Given the description of an element on the screen output the (x, y) to click on. 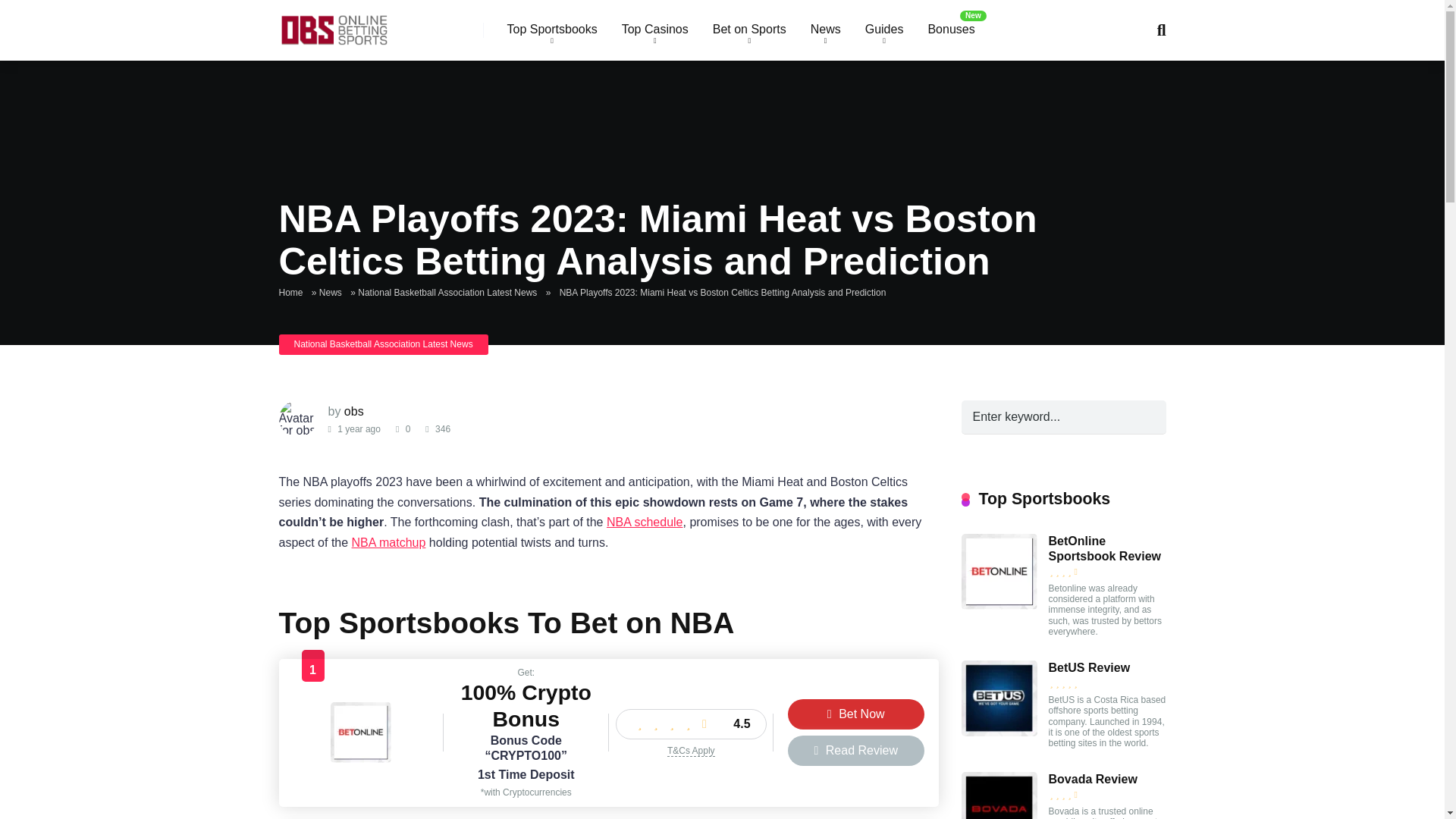
Gravatar for obs (298, 418)
Top Casinos (655, 30)
Bet on Sports (748, 30)
Posts by obs (353, 410)
BetOnline Sportsbook Review (998, 604)
Top Sportsbooks (551, 30)
Read Review (855, 750)
Bet Now (855, 714)
BetOnline Sportsbook Review (360, 758)
